Given the description of an element on the screen output the (x, y) to click on. 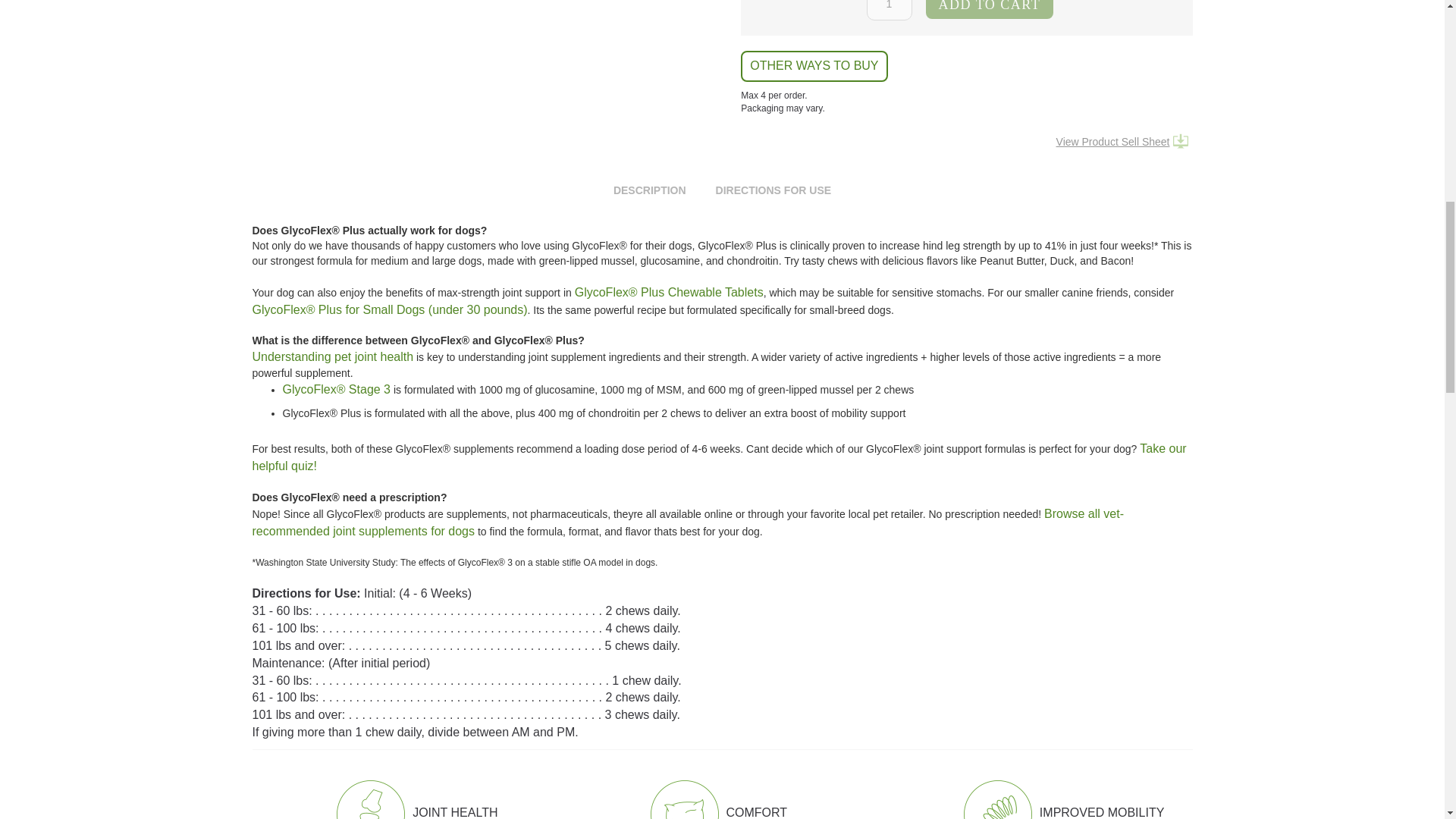
1 (889, 10)
Qty (889, 10)
Add to Cart (990, 9)
